Given the description of an element on the screen output the (x, y) to click on. 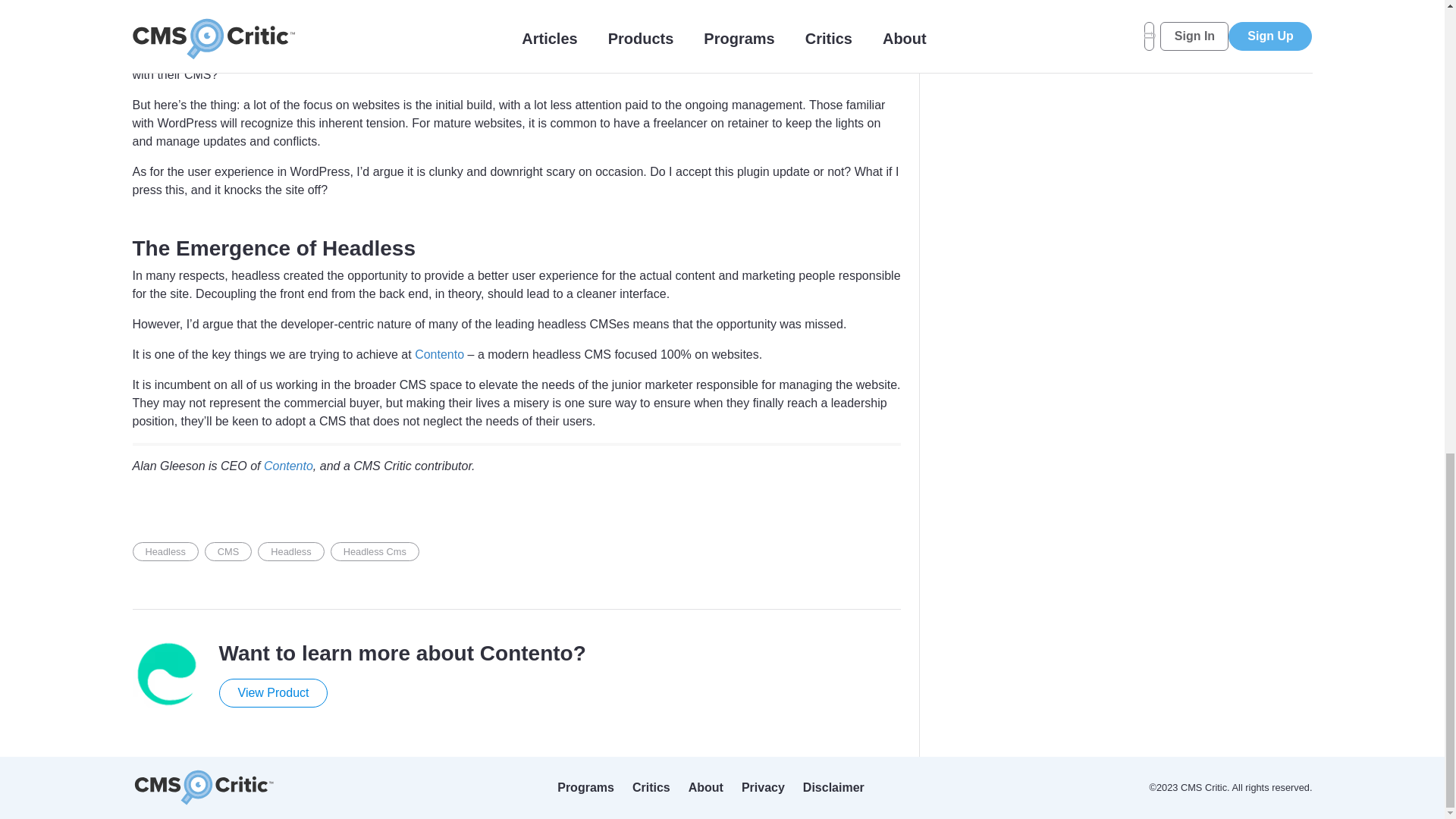
Headless (290, 551)
Contento (288, 465)
Critics (650, 787)
About (705, 787)
View Product (272, 692)
Contento (439, 354)
Programs (585, 787)
CMS (228, 551)
Headless (165, 551)
Headless Cms (374, 551)
11,000 software applications (423, 56)
